Given the description of an element on the screen output the (x, y) to click on. 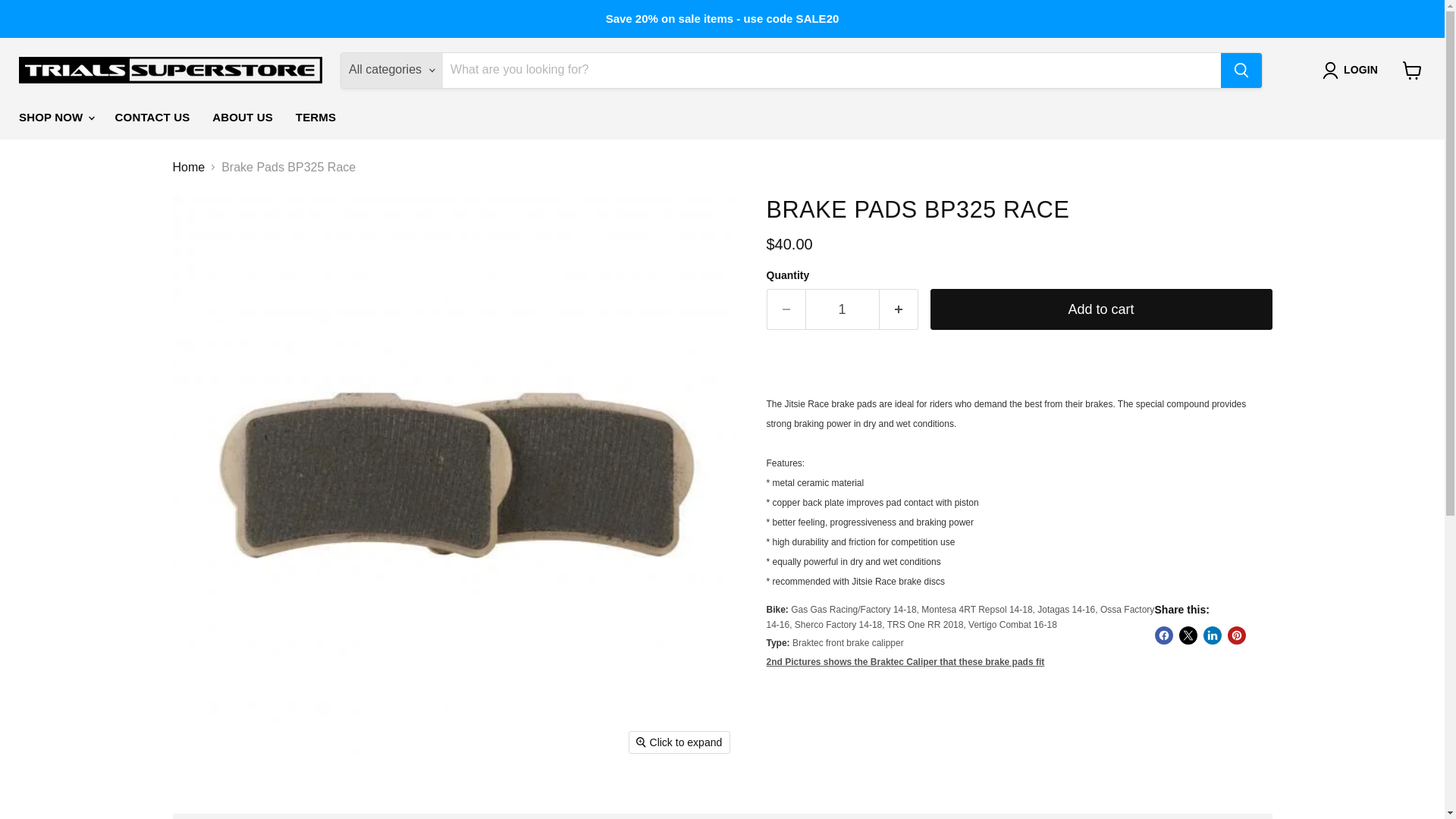
CONTACT US (152, 117)
ABOUT US (241, 117)
TERMS (315, 117)
View cart (1411, 69)
1 (842, 309)
LOGIN (1353, 70)
